Given the description of an element on the screen output the (x, y) to click on. 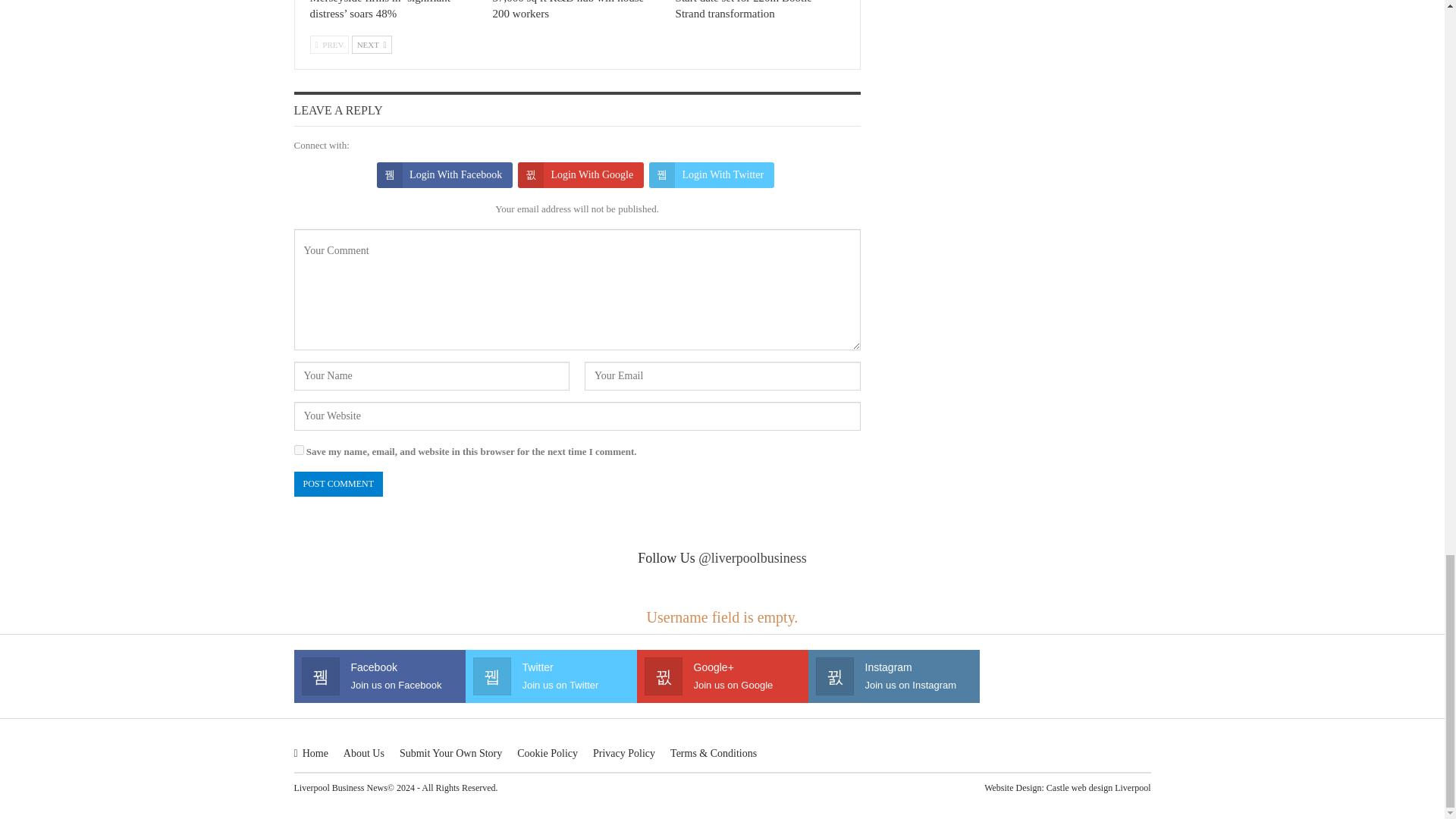
yes (299, 450)
Post Comment (338, 483)
Previous (328, 45)
Next (371, 45)
